Given the description of an element on the screen output the (x, y) to click on. 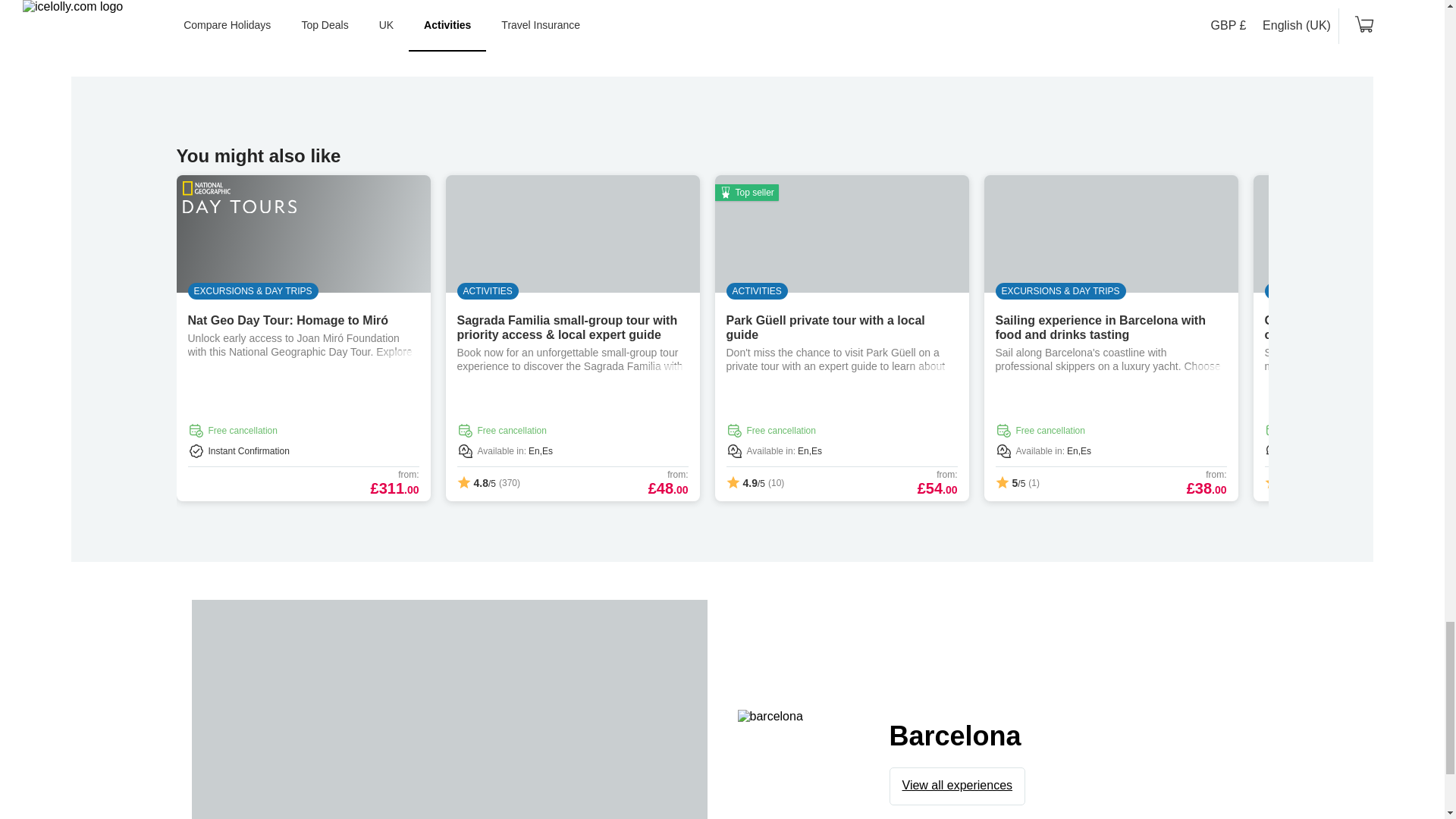
See all reviews (721, 11)
Sailing experience in Barcelona with food and drinks tasting (1099, 327)
View all experiences (957, 785)
